Given the description of an element on the screen output the (x, y) to click on. 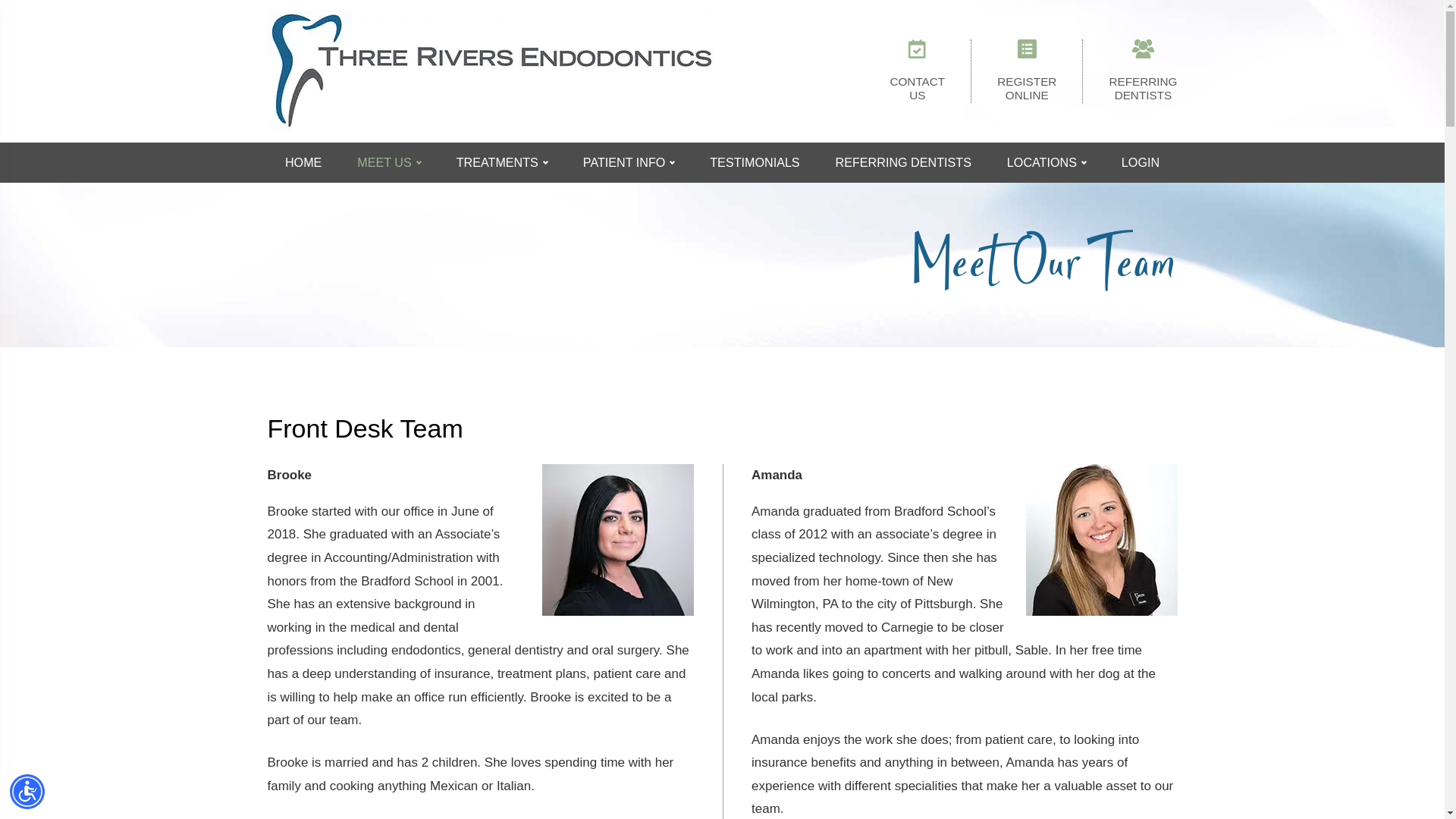
TESTIMONIALS Element type: text (754, 162)
REGISTER
ONLINE Element type: text (1026, 70)
MEET US Element type: text (388, 162)
LOGIN Element type: text (1139, 162)
PATIENT INFO Element type: text (627, 162)
TREATMENTS Element type: text (501, 162)
LOCATIONS Element type: text (1045, 162)
HOME Element type: text (302, 162)
REFERRING DENTISTS Element type: text (902, 162)
REFERRING
DENTISTS Element type: text (1142, 71)
CONTACT
US Element type: text (916, 71)
